Given the description of an element on the screen output the (x, y) to click on. 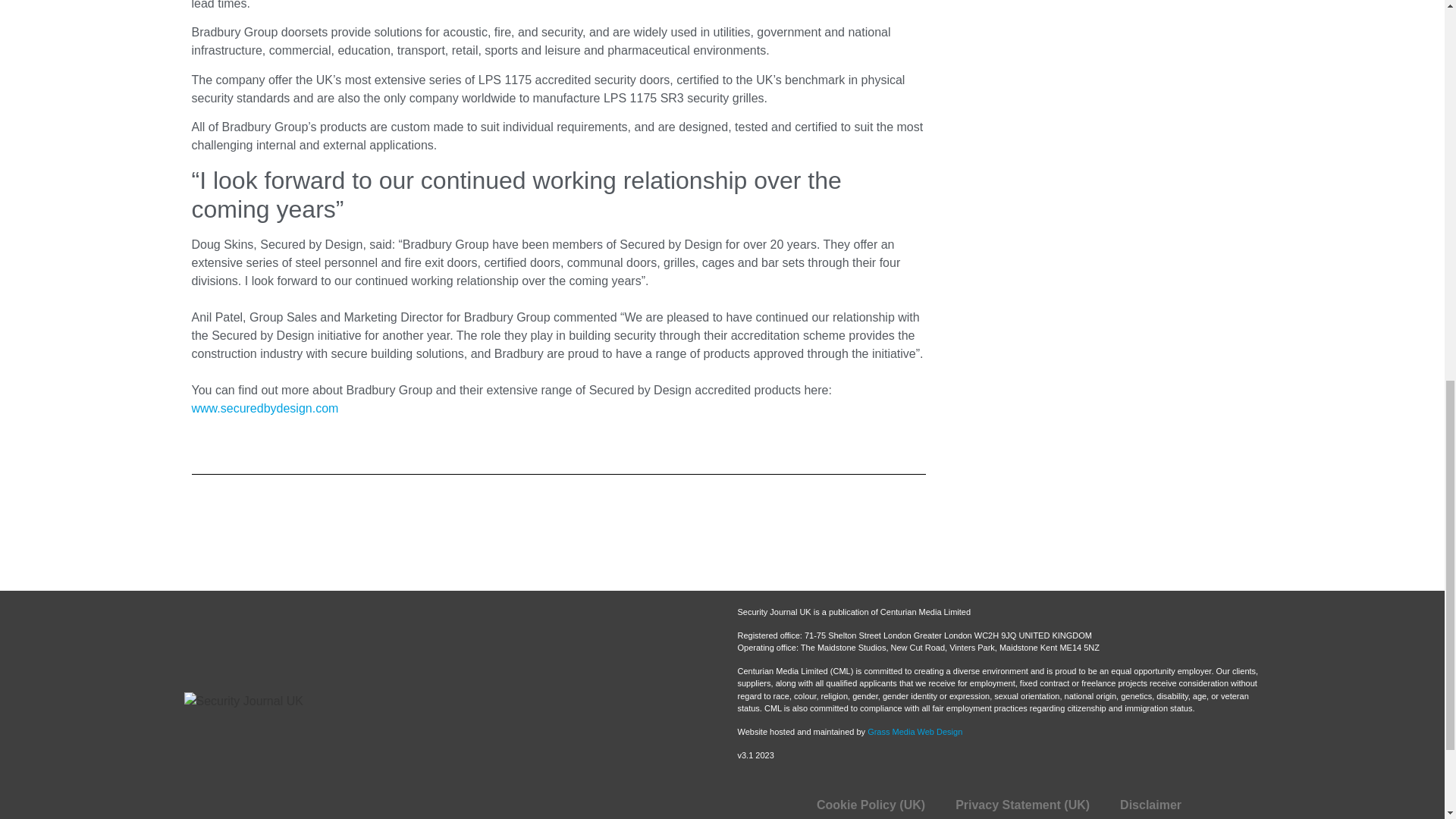
Security Journal UK (430, 731)
